Given the description of an element on the screen output the (x, y) to click on. 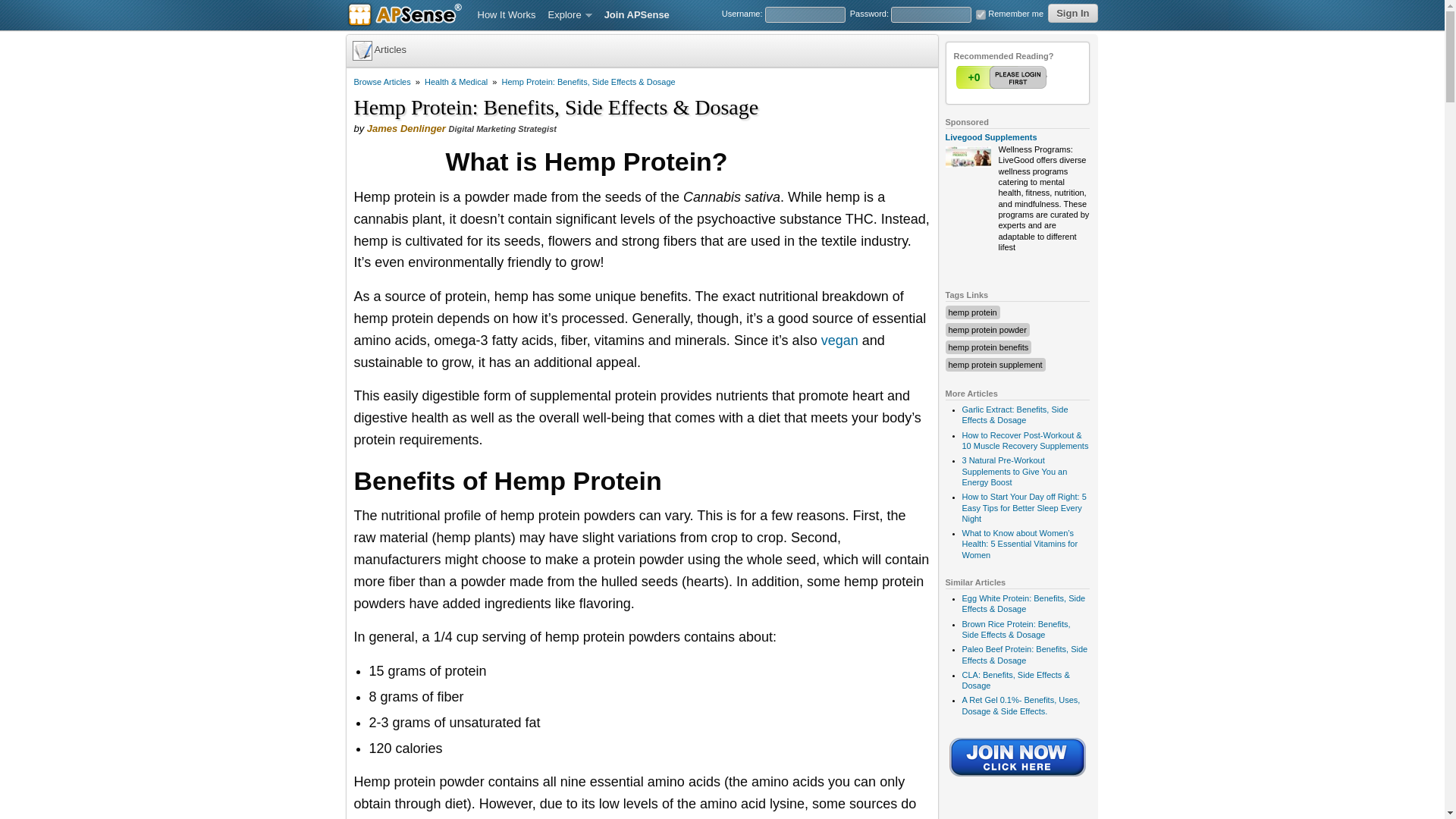
Votes Up (973, 77)
-1 (1031, 77)
-1 (1031, 77)
Join APSense (636, 15)
How It Works (506, 15)
Sign In (1072, 13)
Vote Up (1002, 77)
Explore (569, 15)
1 (980, 14)
vegan (840, 340)
Vote Down (1031, 77)
James Denlinger (405, 128)
1 (1002, 77)
Browse Articles (381, 81)
1 (1002, 77)
